Given the description of an element on the screen output the (x, y) to click on. 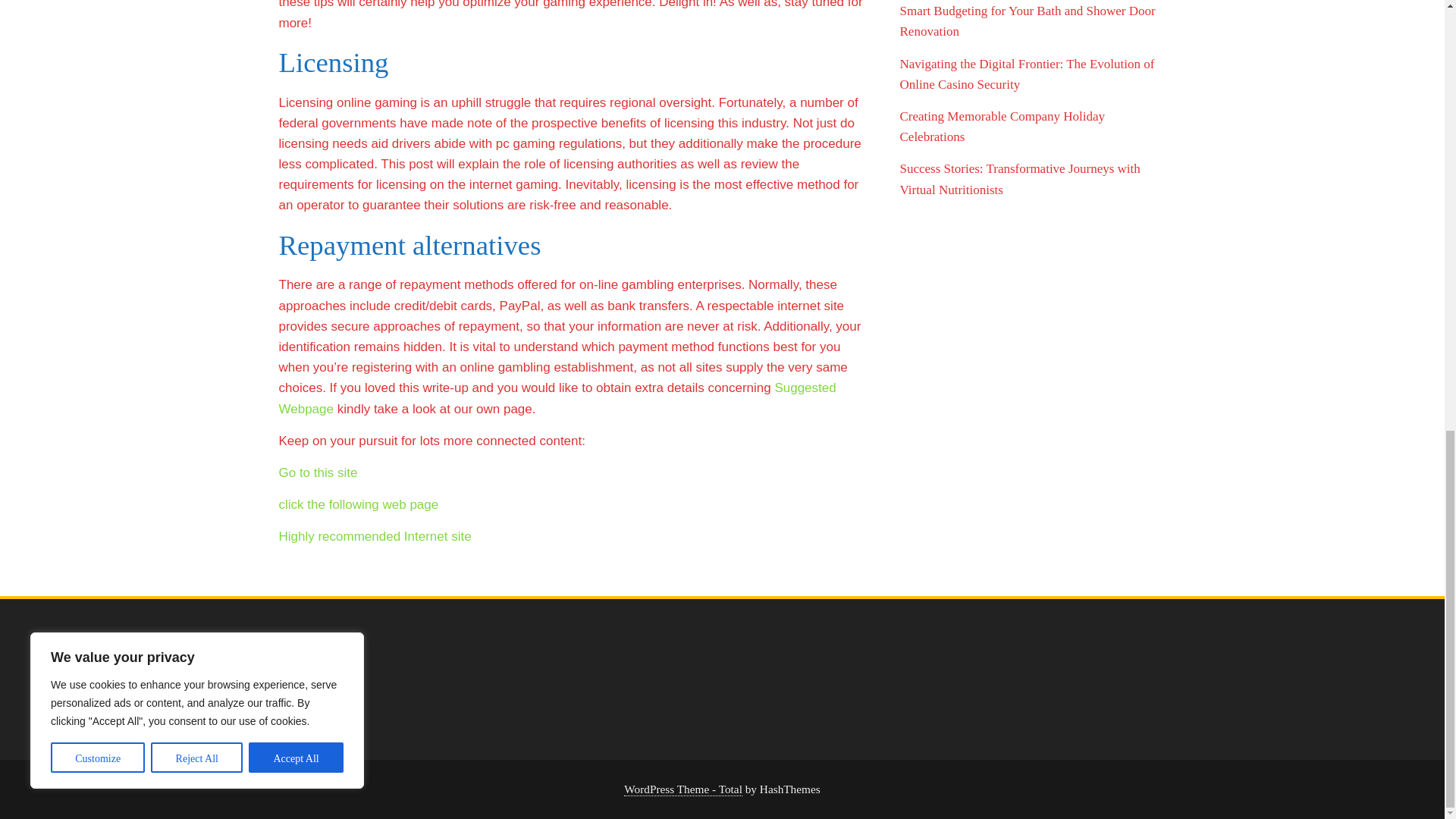
Highly recommended Internet site (375, 536)
click the following web page (359, 504)
Go to this site (318, 472)
Suggested Webpage (557, 397)
